Given the description of an element on the screen output the (x, y) to click on. 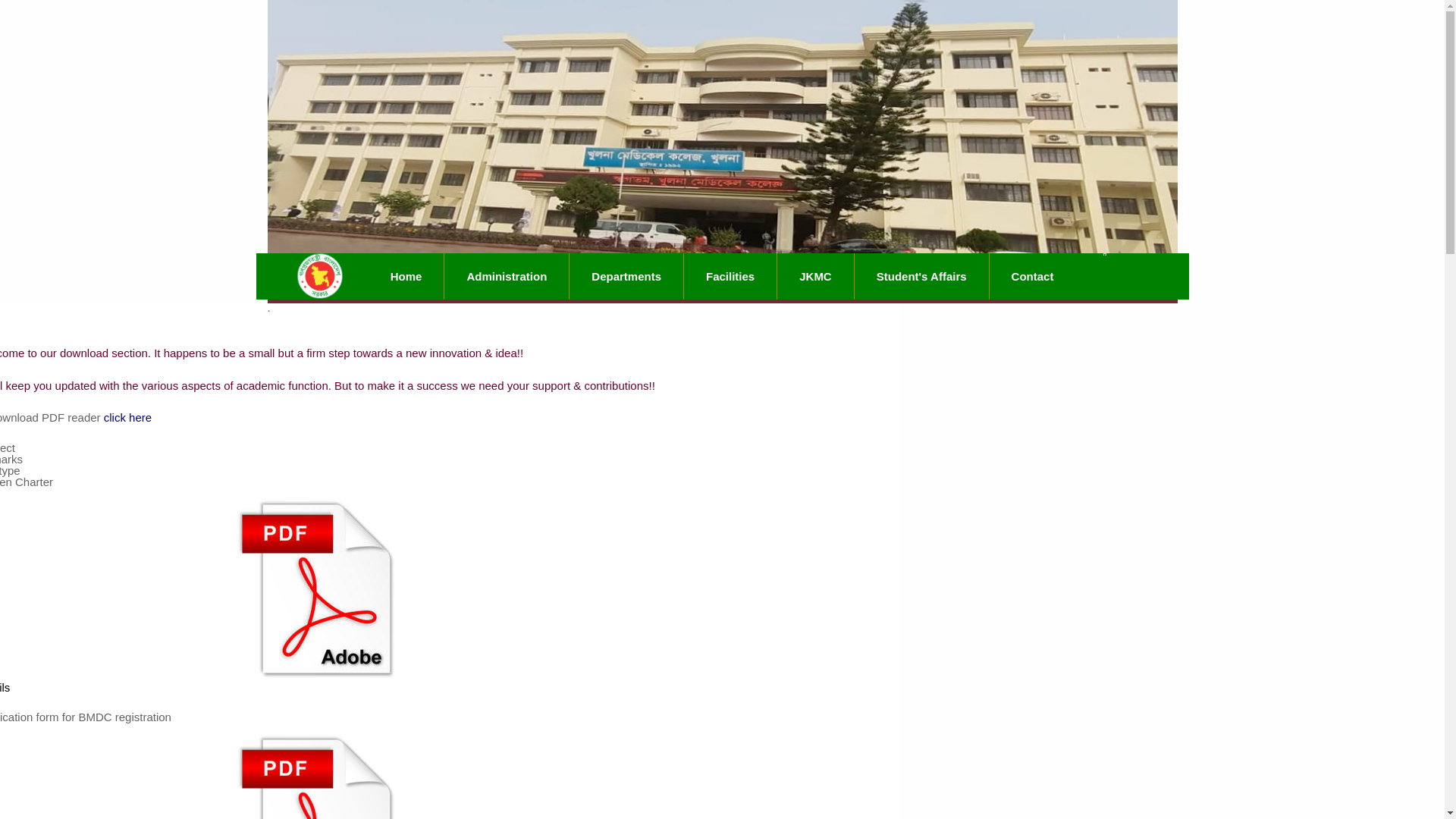
Contact Element type: text (1033, 276)
JKMC Element type: text (815, 276)
Home Element type: text (406, 276)
Departments Element type: text (626, 276)
Facilities Element type: text (730, 276)
Student's Affairs Element type: text (921, 276)
click here Element type: text (127, 417)
Administration Element type: text (506, 276)
